Given the description of an element on the screen output the (x, y) to click on. 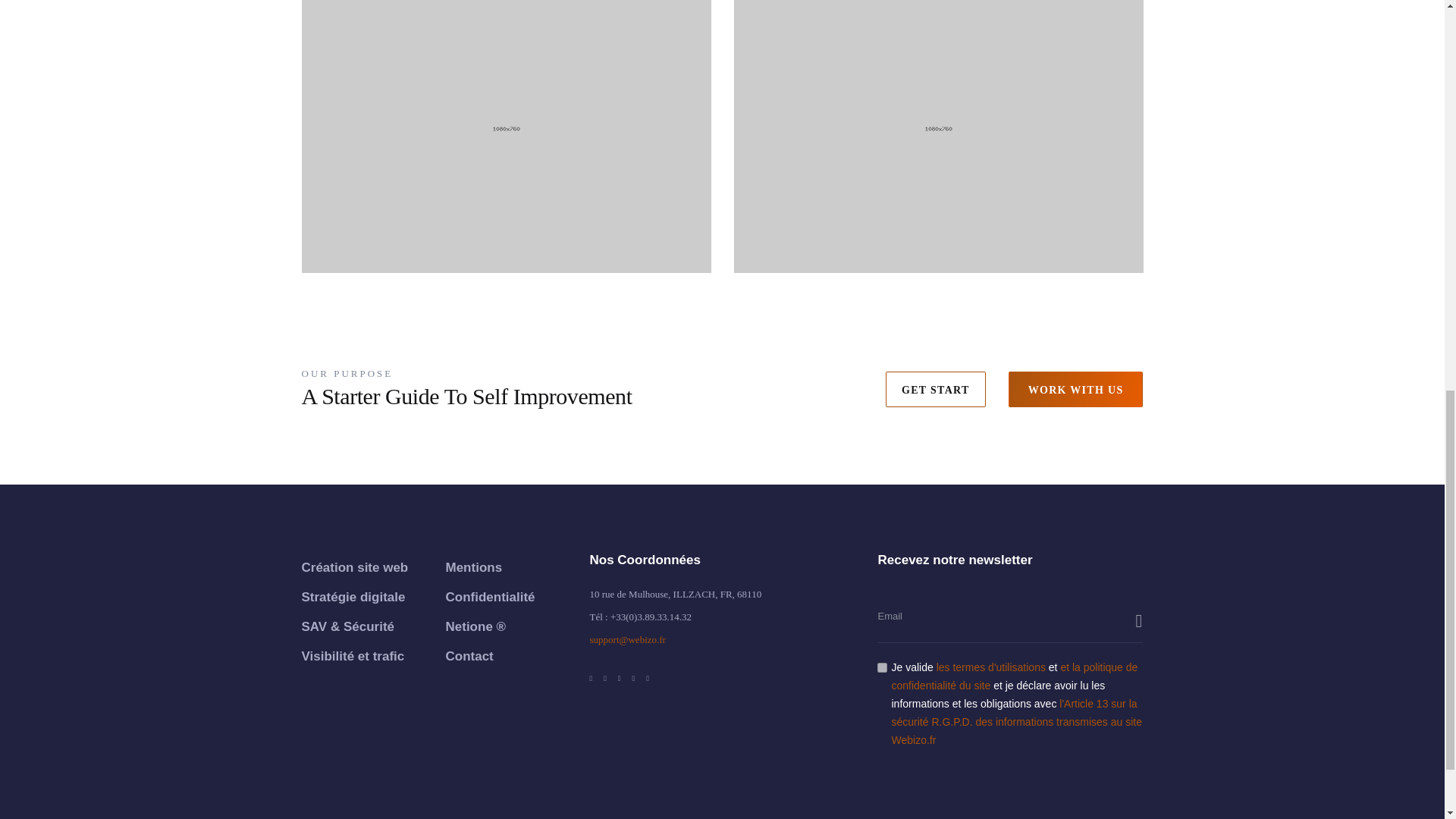
on (881, 667)
WORK WITH US (1075, 389)
GET START (935, 389)
